Given the description of an element on the screen output the (x, y) to click on. 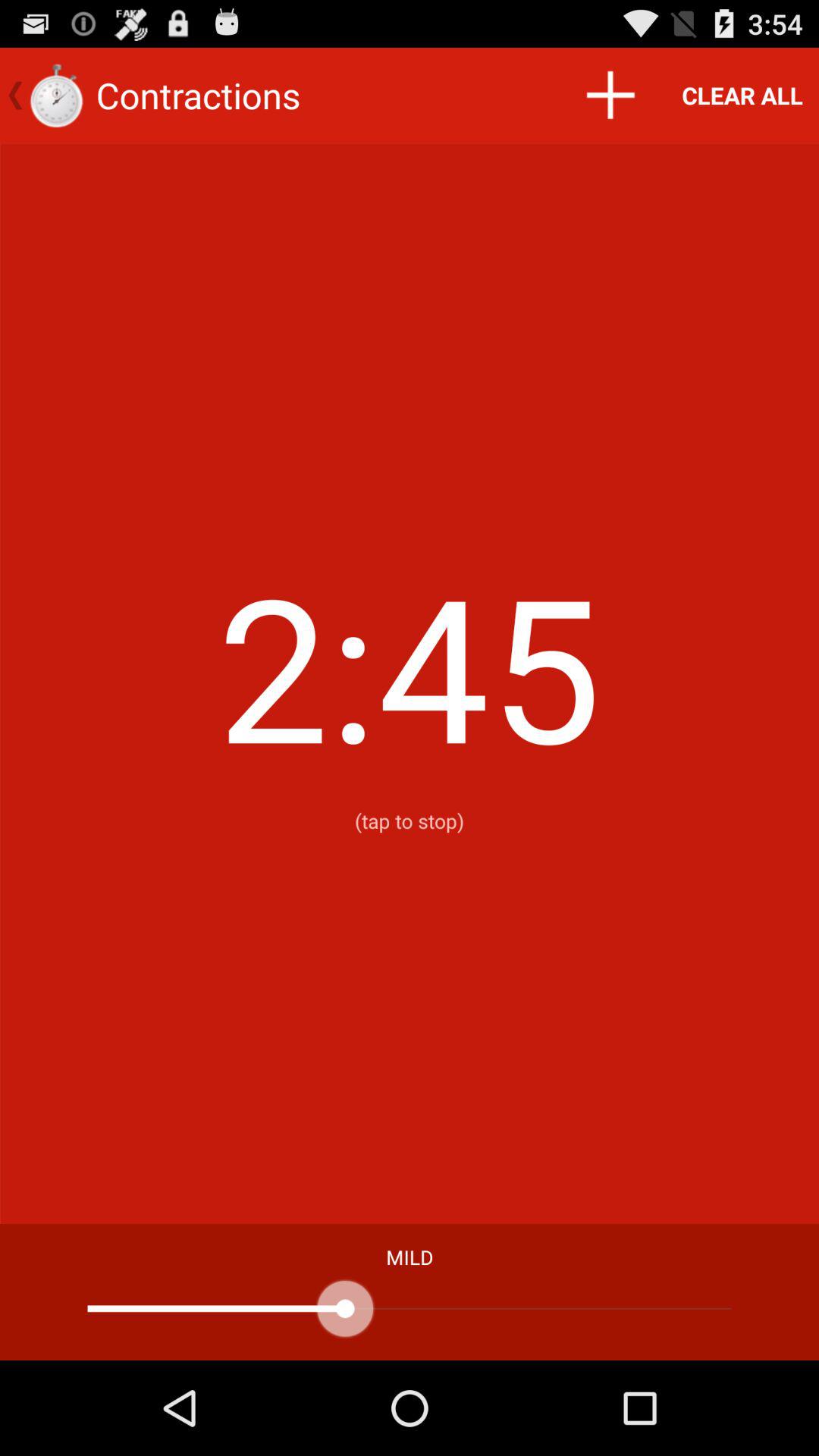
launch icon next to the clear all icon (610, 95)
